Given the description of an element on the screen output the (x, y) to click on. 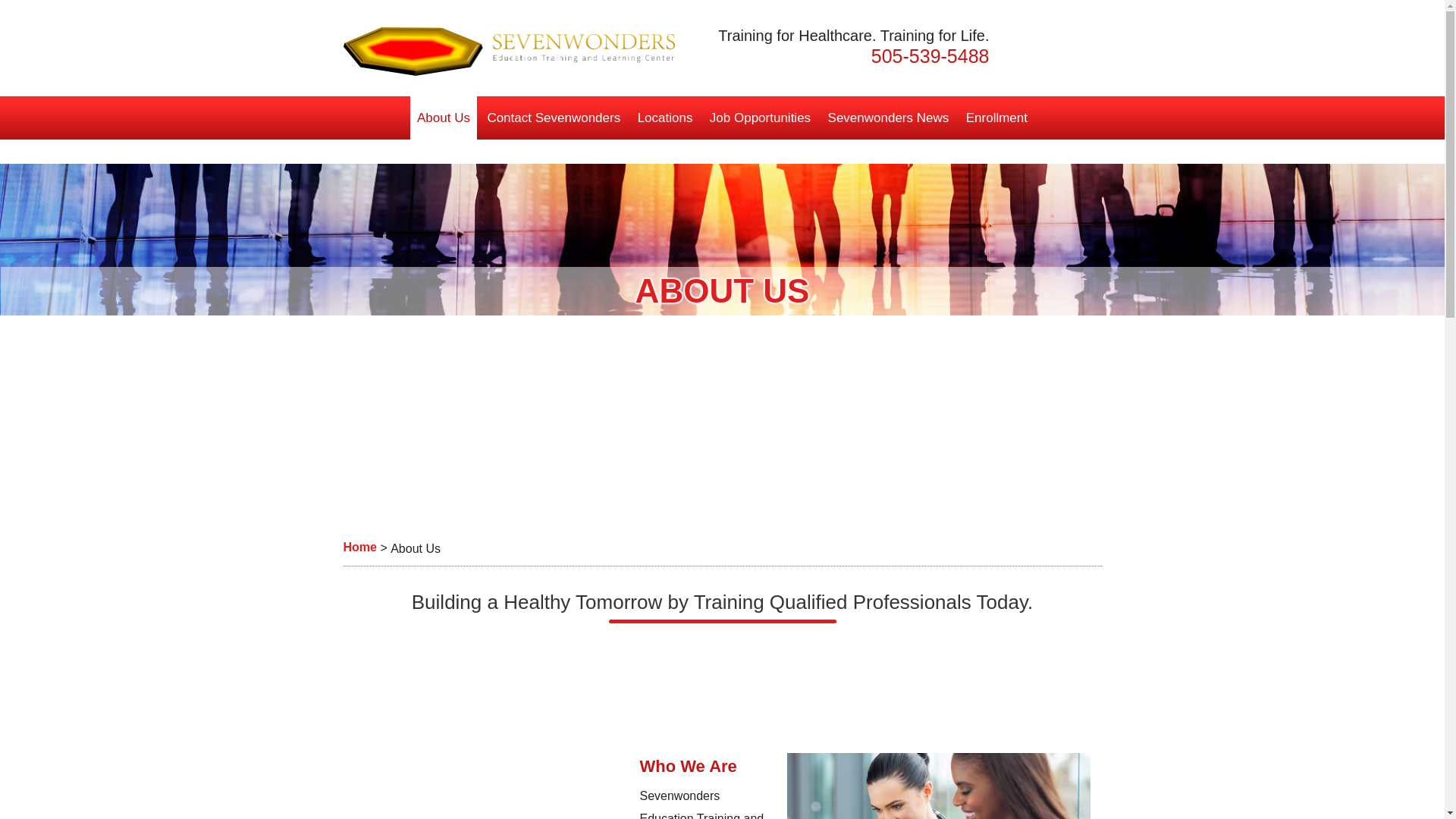
Job Opportunities (759, 117)
About Us (443, 117)
Enrollment (996, 117)
Locations (665, 117)
Go to Home (358, 547)
Sevenwonders News (888, 117)
Contact Sevenwonders (553, 117)
Home (358, 547)
